Given the description of an element on the screen output the (x, y) to click on. 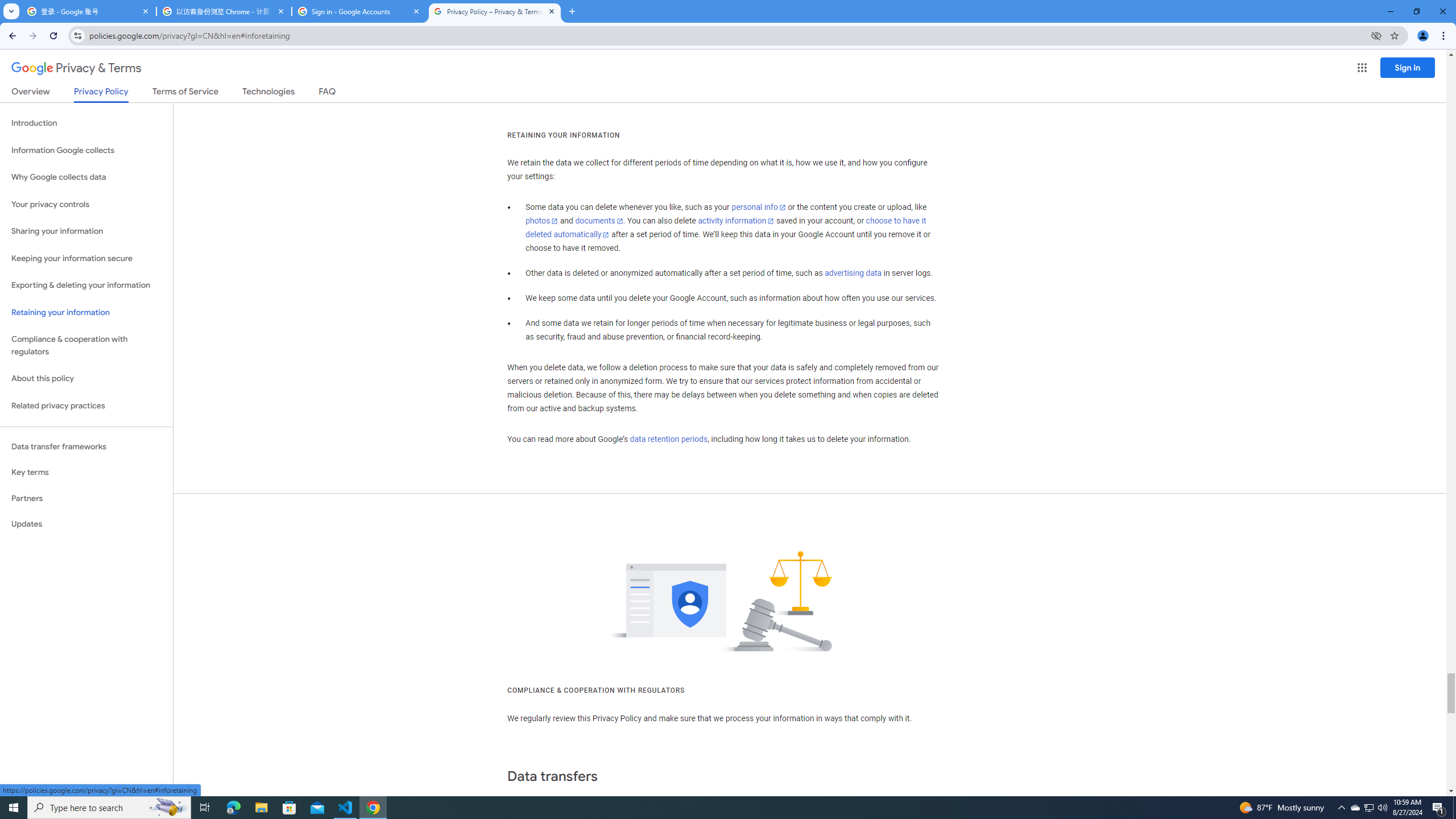
FAQ (327, 93)
Compliance & cooperation with regulators (86, 345)
activity information (735, 221)
Privacy Policy (100, 94)
Technologies (268, 93)
Introduction (86, 122)
documents (599, 221)
Keeping your information secure (86, 258)
Sharing your information (86, 230)
